Given the description of an element on the screen output the (x, y) to click on. 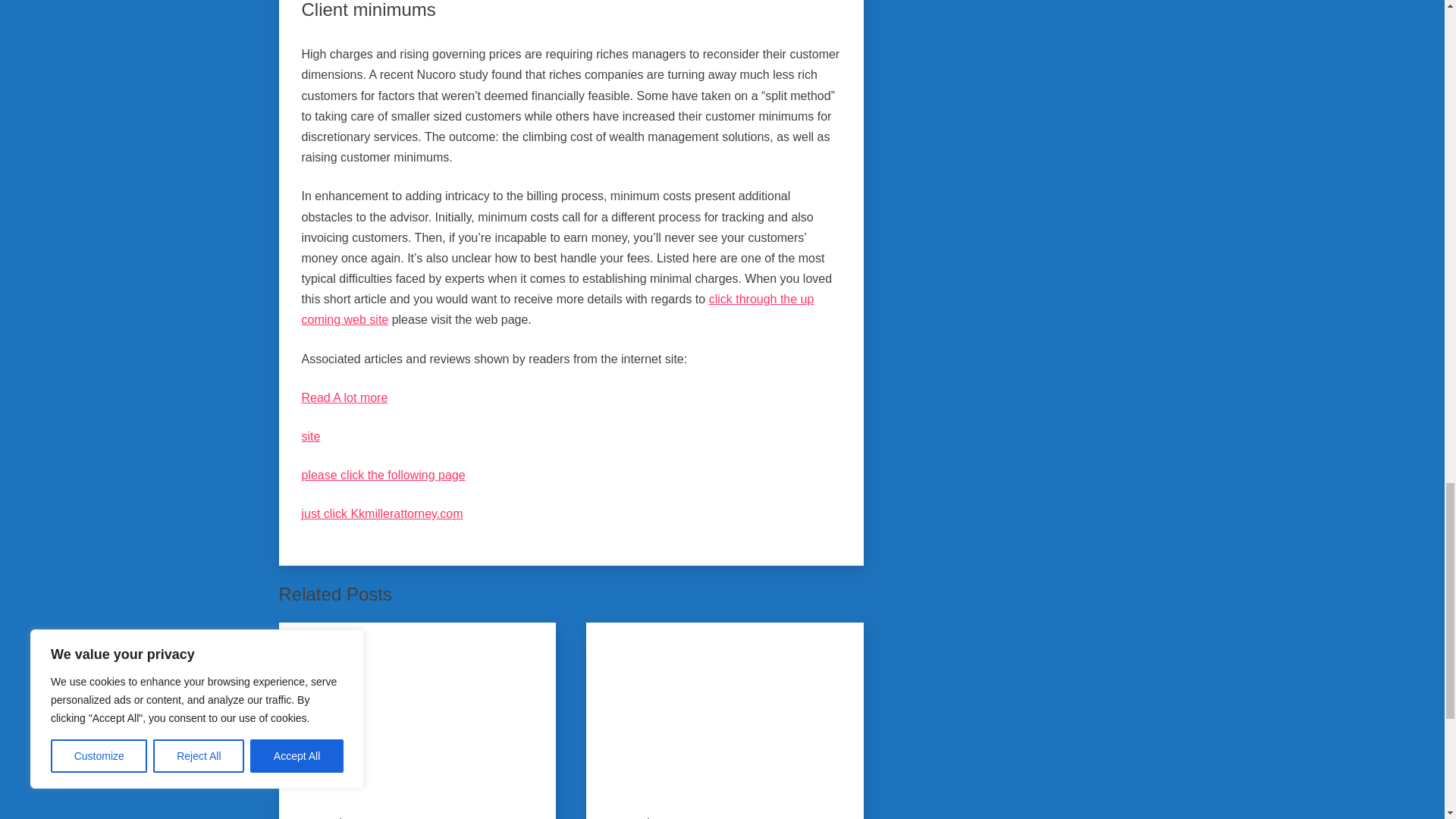
just click Kkmillerattorney.com (382, 513)
please click the following page (383, 474)
General (321, 816)
site (310, 436)
Read A lot more (344, 397)
click through the up coming web site (557, 308)
